Given the description of an element on the screen output the (x, y) to click on. 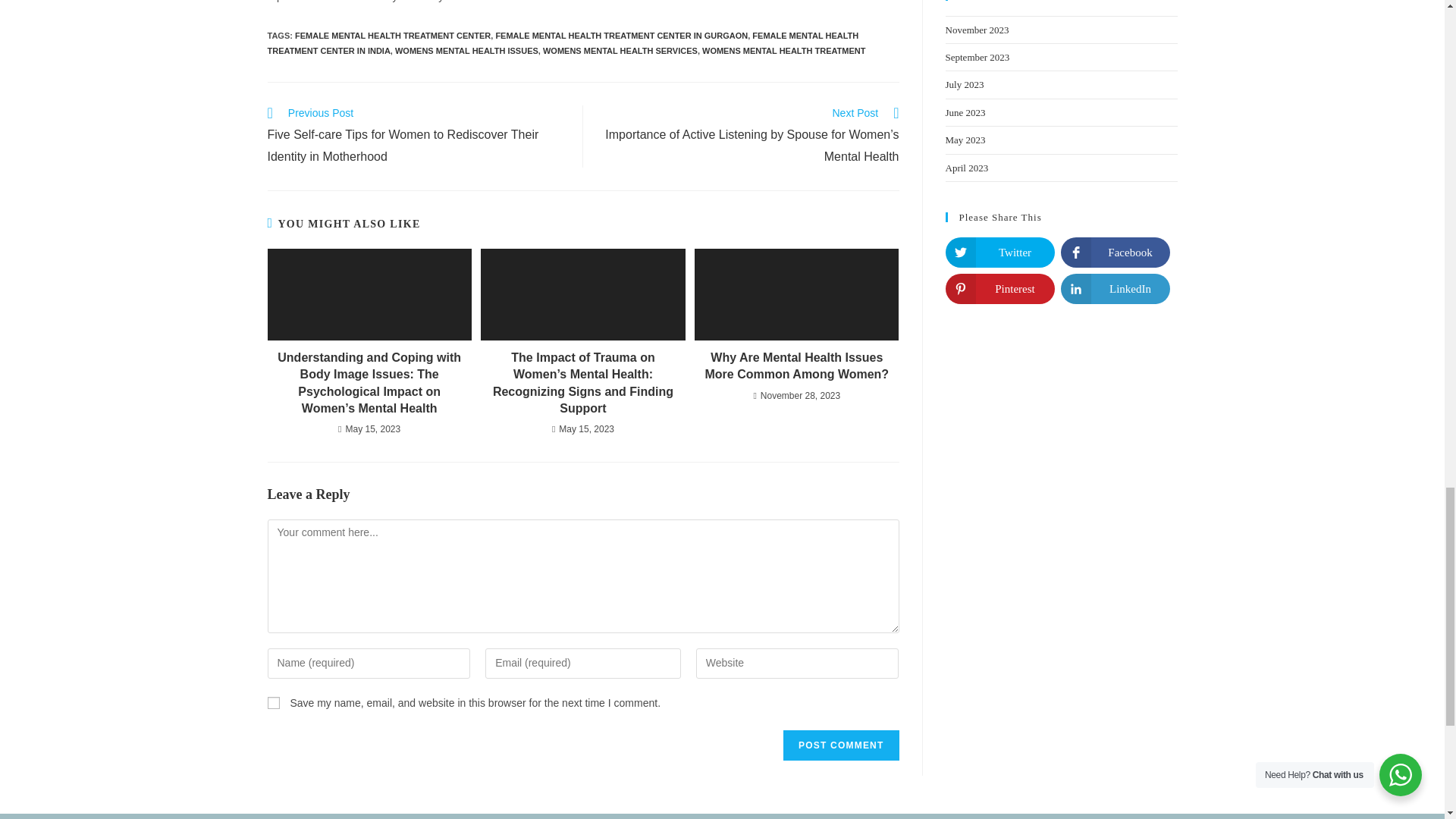
yes (272, 702)
Post Comment (840, 745)
